Given the description of an element on the screen output the (x, y) to click on. 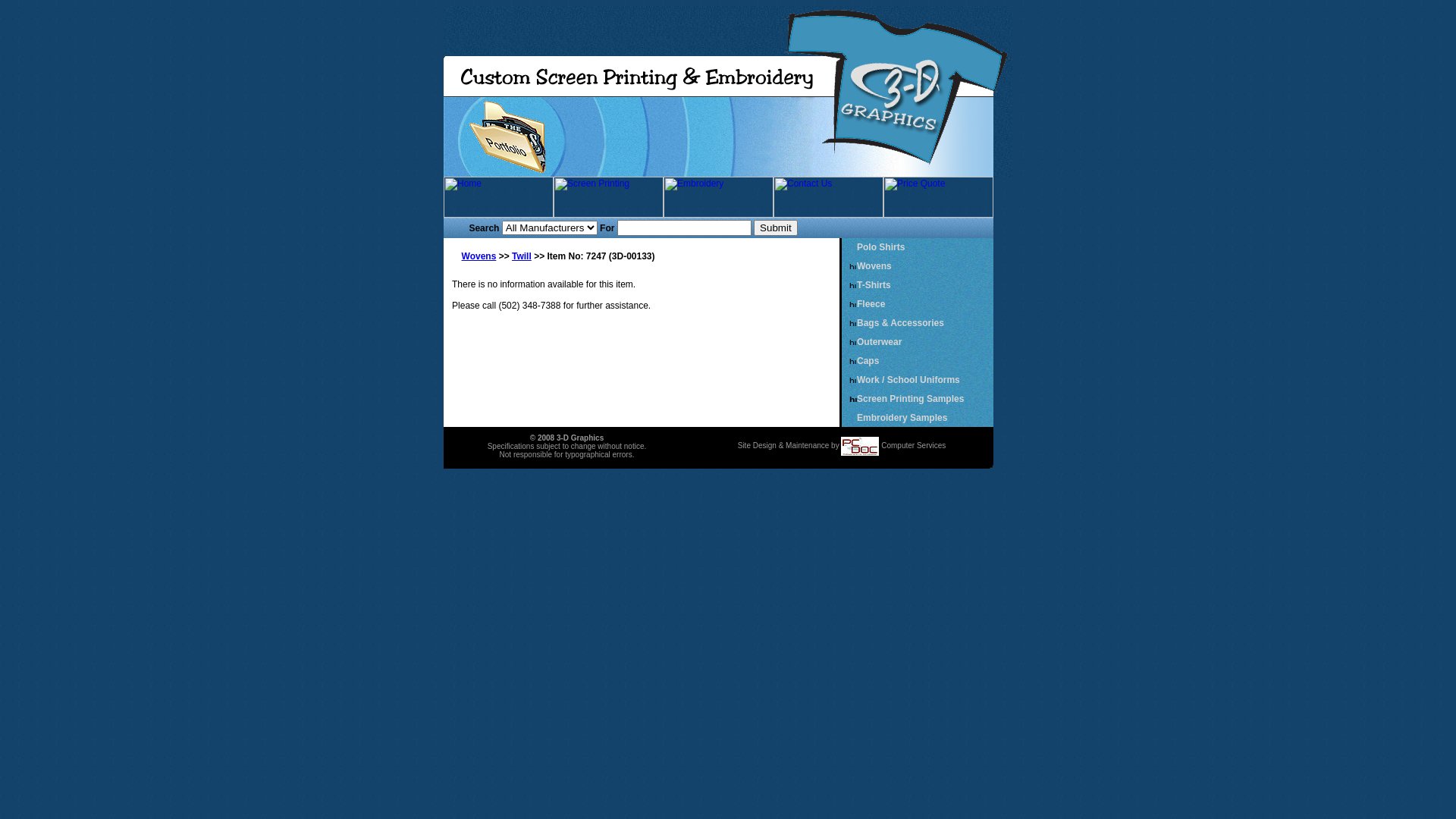
Submit Element type: text (775, 227)
Work / School Uniforms Element type: text (908, 379)
Polo Shirts Element type: text (880, 246)
Embroidery Samples Element type: text (901, 417)
Wovens Element type: text (873, 265)
Caps Element type: text (867, 360)
Bags & Accessories Element type: text (900, 322)
Outerwear Element type: text (878, 341)
Screen Printing Samples Element type: text (909, 398)
Fleece Element type: text (870, 303)
Wovens Element type: text (478, 256)
T-Shirts Element type: text (873, 284)
Twill Element type: text (521, 256)
